Given the description of an element on the screen output the (x, y) to click on. 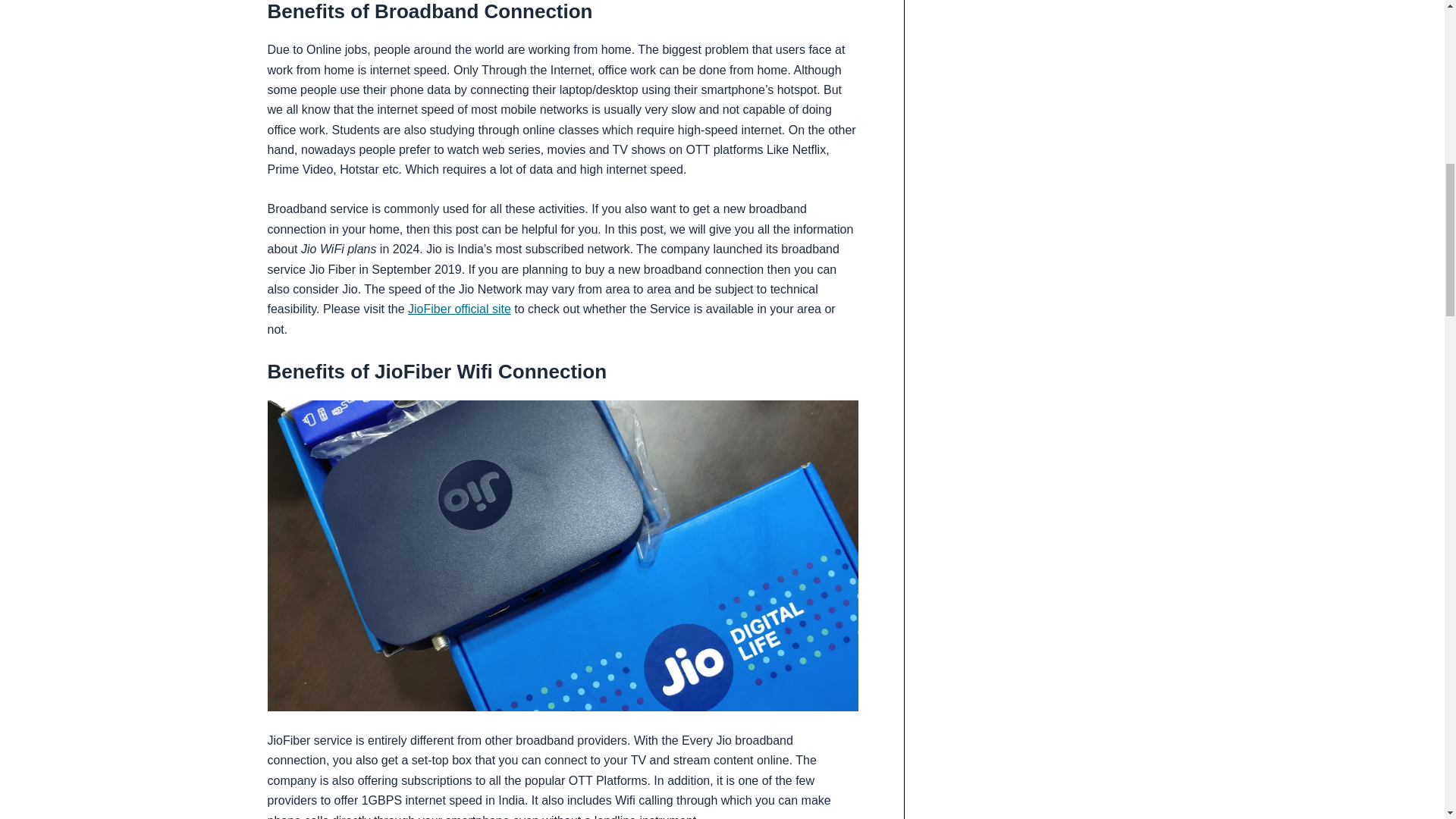
JioFiber official site (459, 308)
